Given the description of an element on the screen output the (x, y) to click on. 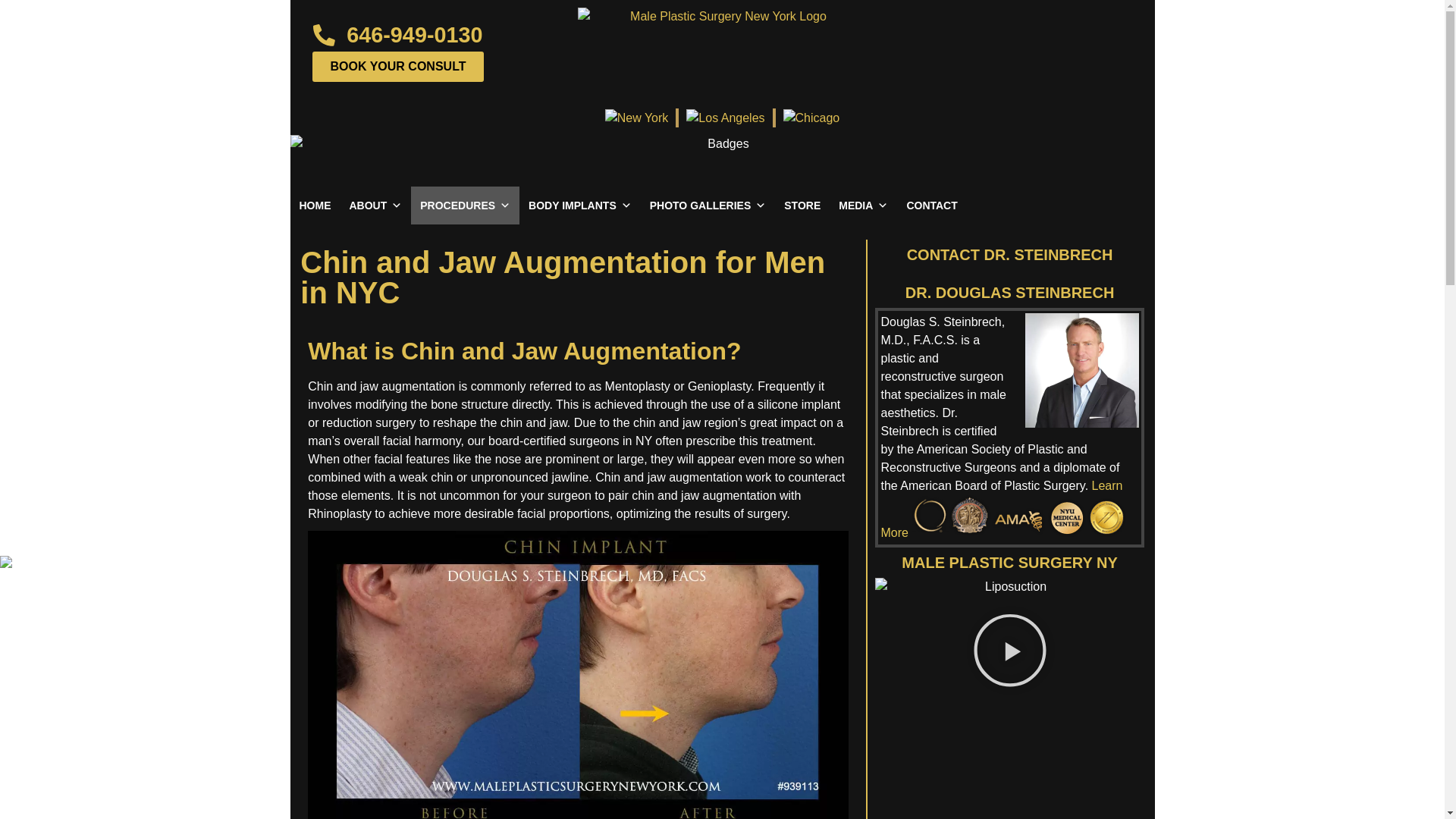
mps-chicago-65ce558c2b0e9 (811, 117)
mps-los-angeles-65ce558cdcec7 (724, 117)
mps-new-york-65ce558d1095a (636, 117)
